Given the description of an element on the screen output the (x, y) to click on. 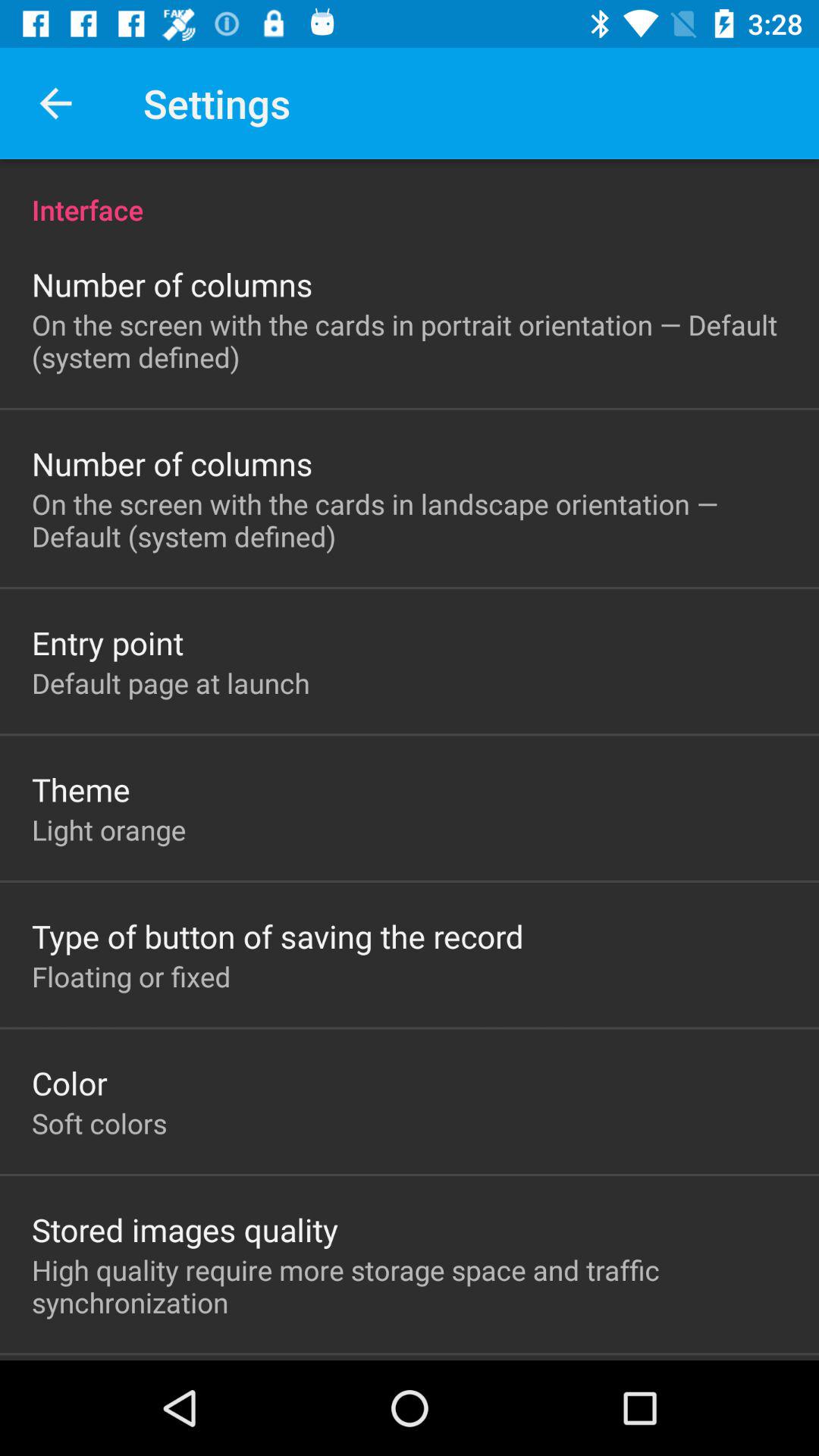
open icon above type of button icon (108, 829)
